Given the description of an element on the screen output the (x, y) to click on. 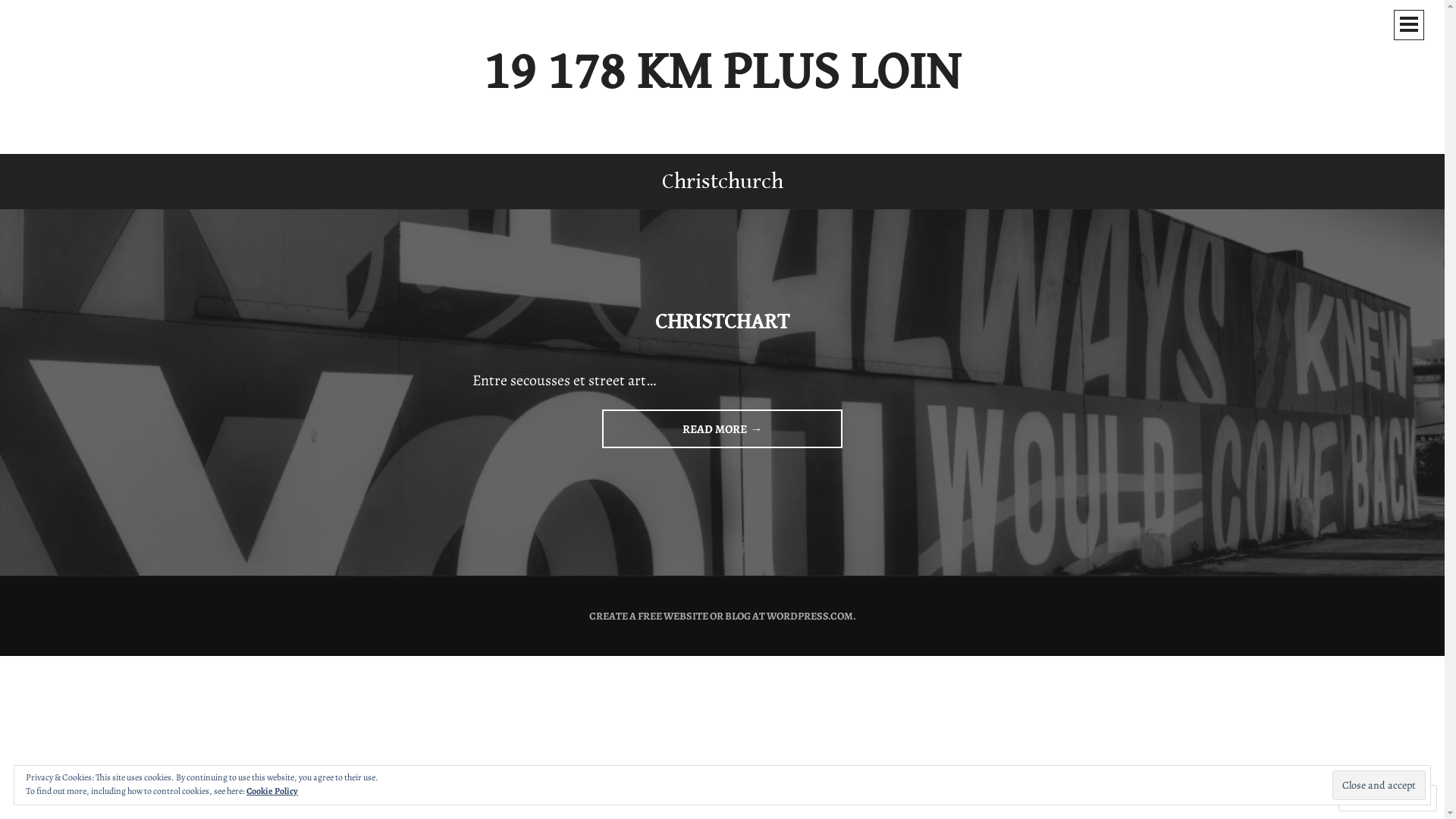
19 178 KM PLUS LOIN Element type: text (721, 72)
Follow Element type: text (1372, 797)
Cookie Policy Element type: text (272, 790)
CREATE A FREE WEBSITE OR BLOG AT WORDPRESS.COM. Element type: text (721, 615)
READ MORE Element type: text (722, 428)
Close and accept Element type: text (1378, 785)
CHRISTCHART Element type: text (722, 321)
